Given the description of an element on the screen output the (x, y) to click on. 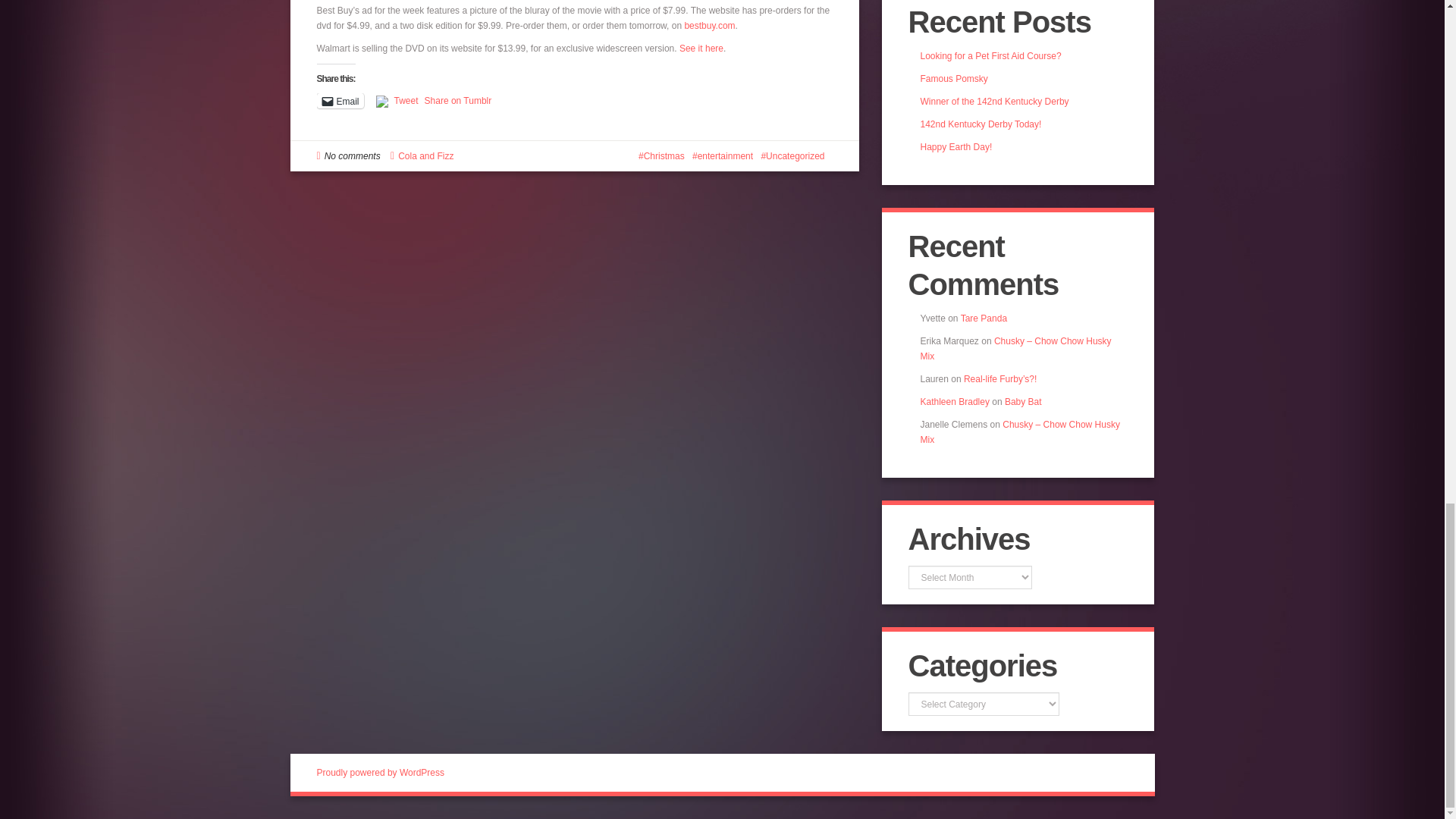
See it here (701, 48)
Click to email a link to a friend (340, 100)
Winner of the 142nd Kentucky Derby (994, 101)
Email (340, 100)
Happy Earth Day! (956, 146)
Kathleen Bradley (955, 401)
Share on Tumblr (458, 100)
No comments (352, 155)
142nd Kentucky Derby Today! (981, 123)
bestbuy.com (709, 25)
